Given the description of an element on the screen output the (x, y) to click on. 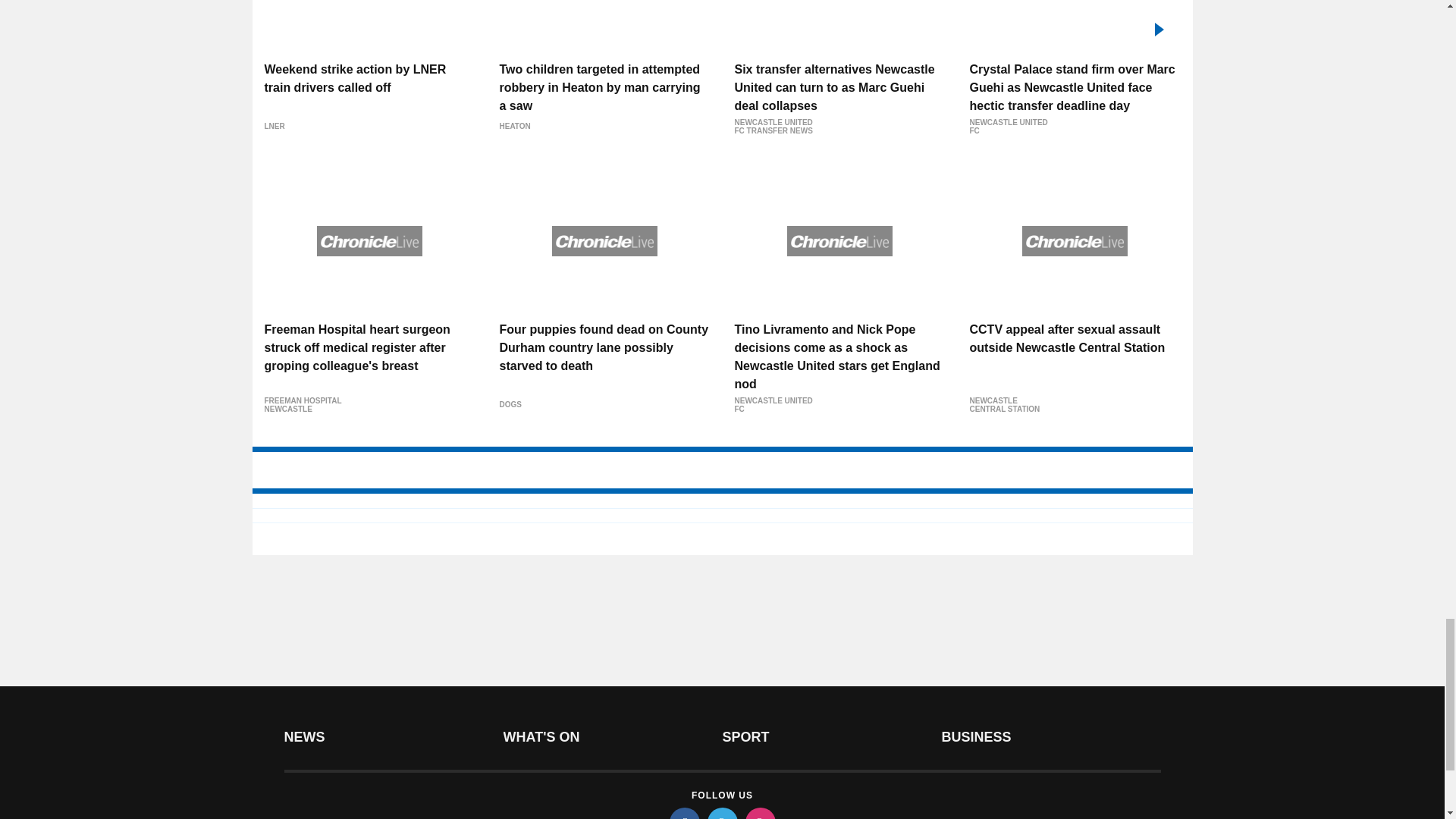
instagram (759, 813)
twitter (721, 813)
facebook (683, 813)
